Given the description of an element on the screen output the (x, y) to click on. 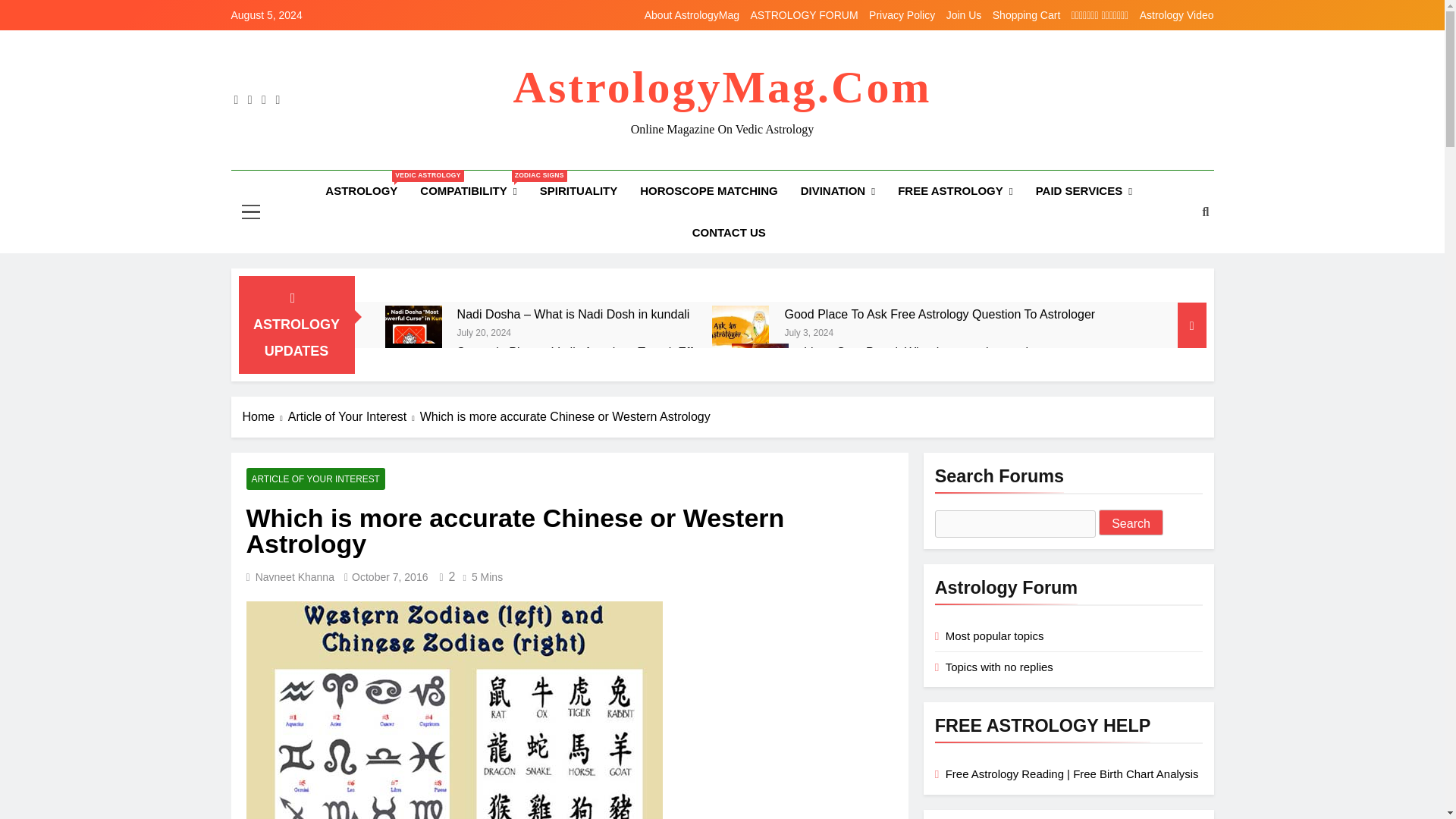
ASTROLOGY FORUM (805, 15)
DIVINATION (837, 191)
Lions Gate Portal: What it means in astrology (760, 371)
Saturn in Pisces: Vedic Astrology Transit Effect (583, 351)
HOROSCOPE MATCHING (708, 190)
Good Place To Ask Free Astrology Question To Astrologer (939, 314)
Join Us (963, 15)
Good Place To Ask Free Astrology Question To Astrologer (739, 333)
Privacy Policy (901, 15)
